Given the description of an element on the screen output the (x, y) to click on. 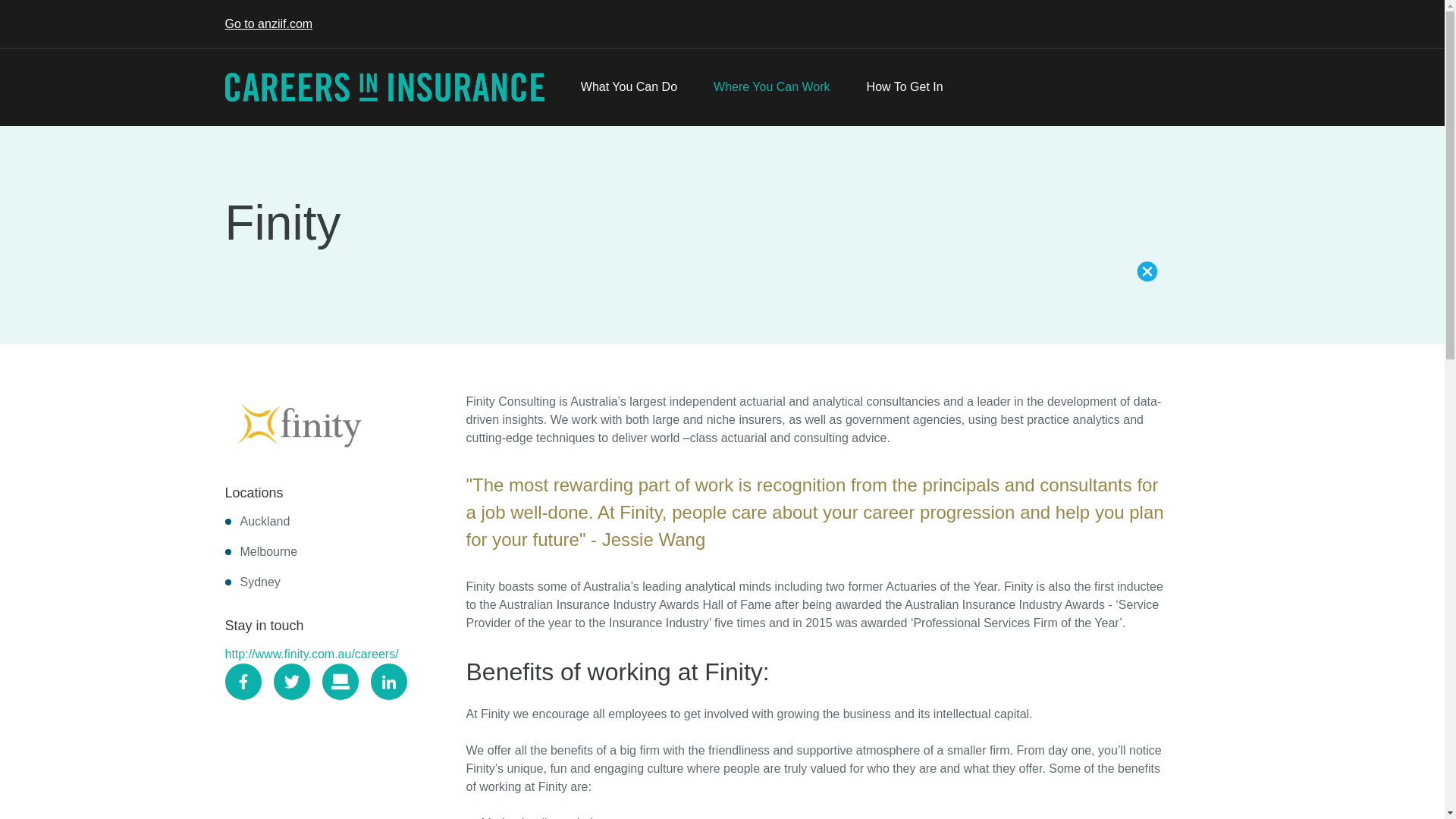
Go to anziif.com (268, 22)
How To Get In (904, 87)
Where You Can Work (771, 87)
What You Can Do (628, 87)
Careers in Insurance (383, 87)
